Given the description of an element on the screen output the (x, y) to click on. 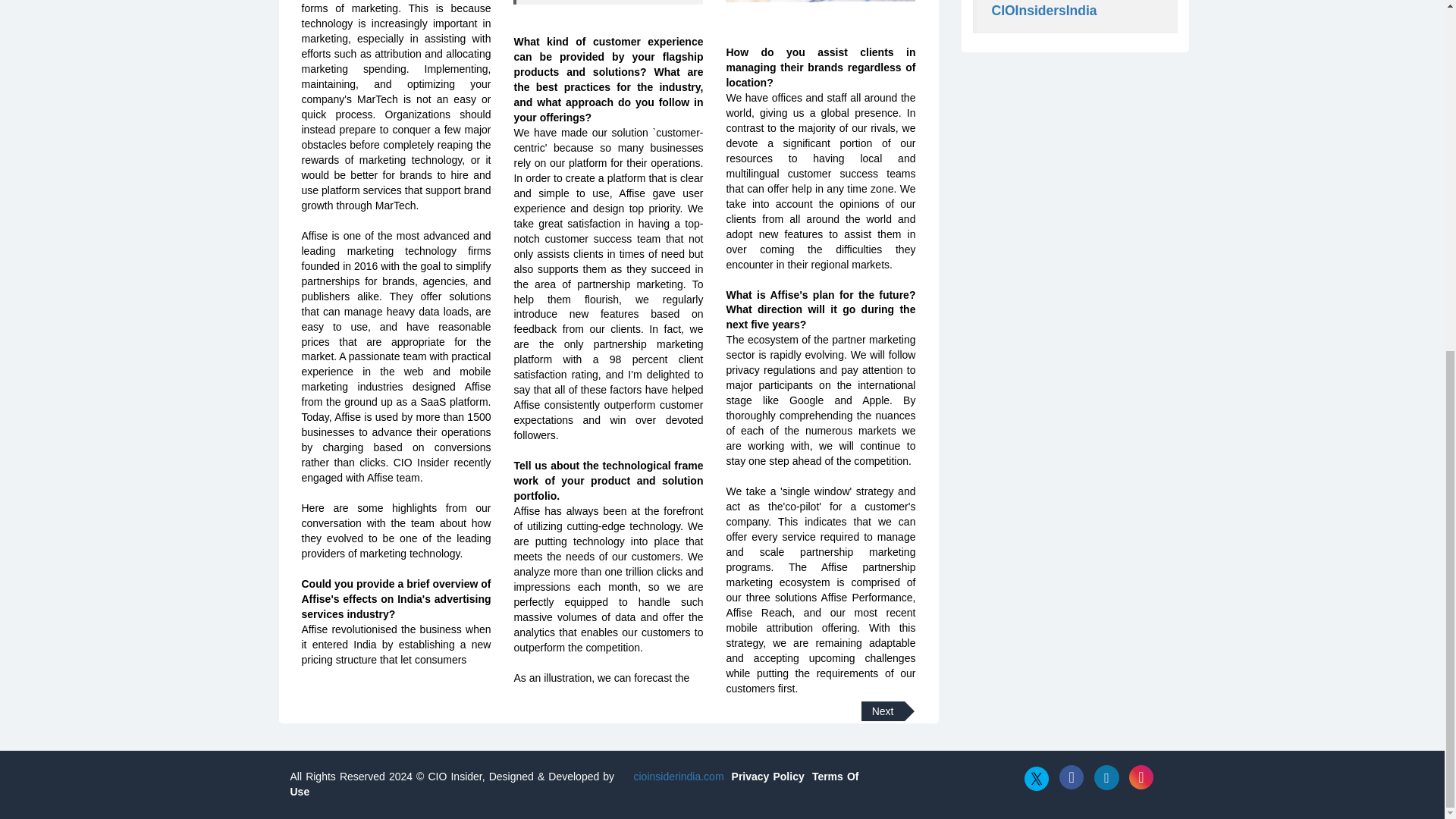
Terms Of Use (574, 783)
Next (882, 711)
Privacy Policy (768, 776)
CIOInsidersIndia (1044, 10)
cioinsiderindia.com (675, 776)
